Given the description of an element on the screen output the (x, y) to click on. 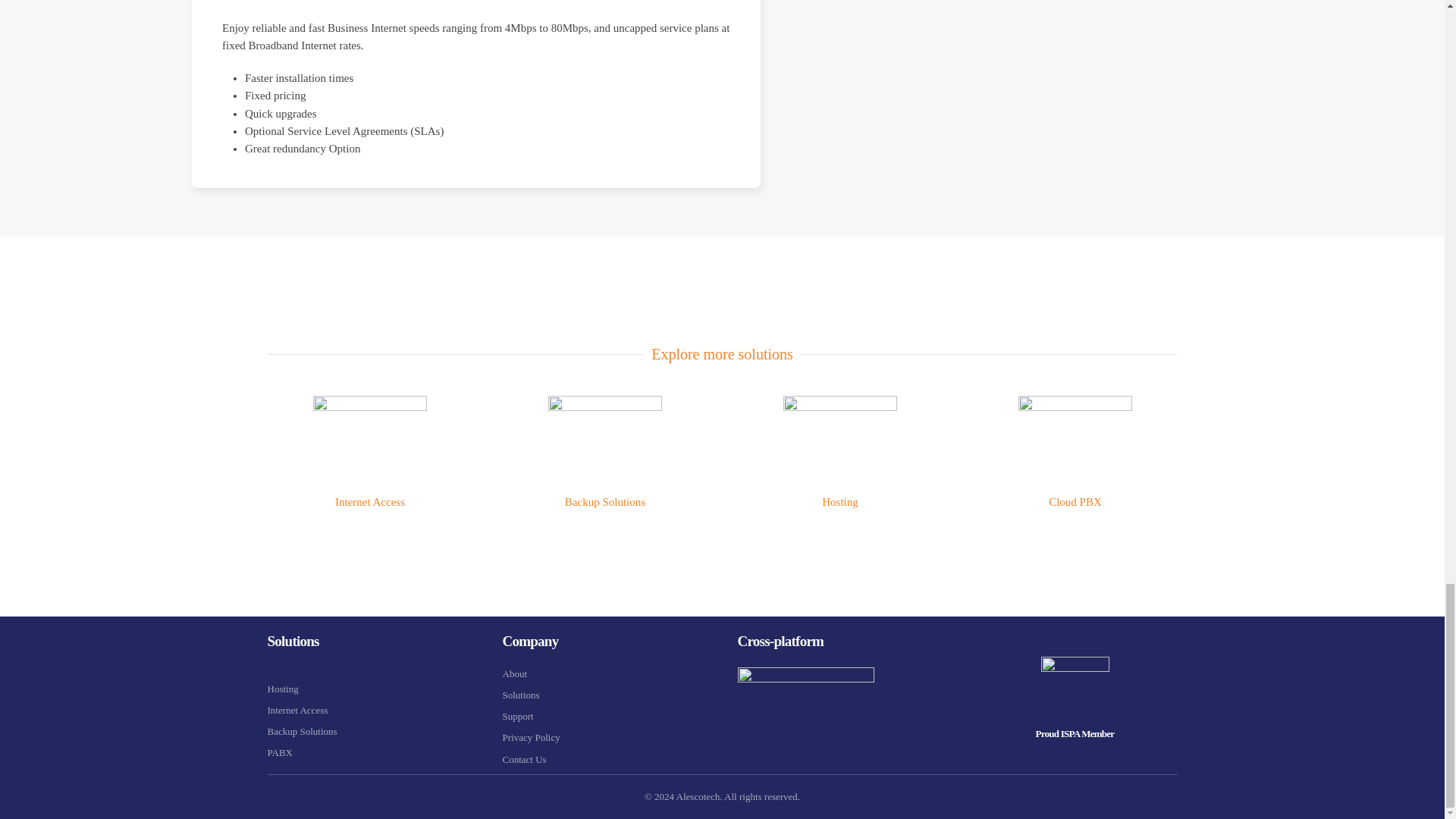
Support (517, 715)
Privacy Policy (530, 737)
About (514, 673)
Backup Solutions (301, 731)
Internet Access (296, 709)
Contact Us (524, 758)
Solutions (520, 695)
PABX (368, 753)
Hosting (282, 688)
